Given the description of an element on the screen output the (x, y) to click on. 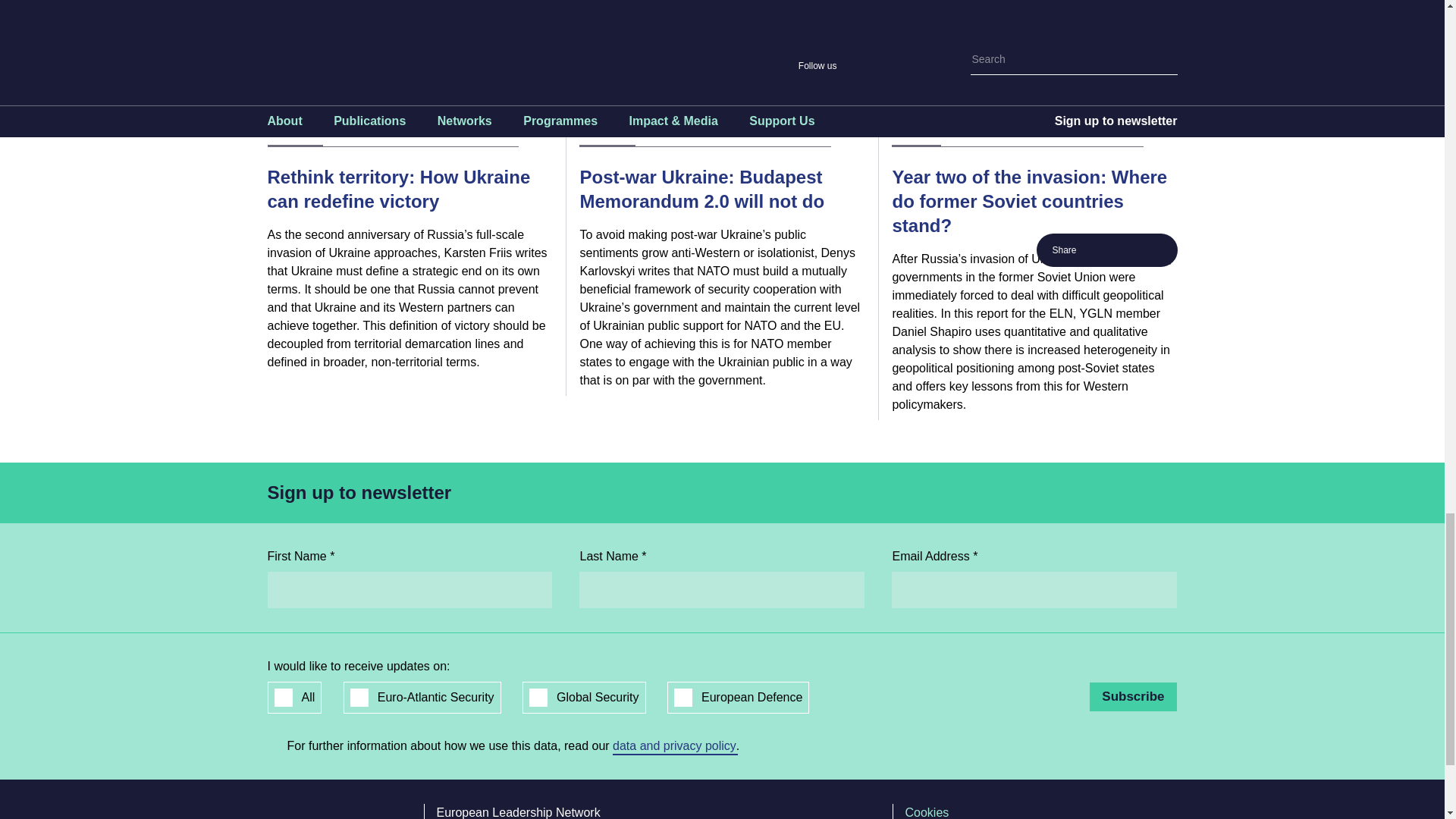
Subscribe (1132, 696)
